Given the description of an element on the screen output the (x, y) to click on. 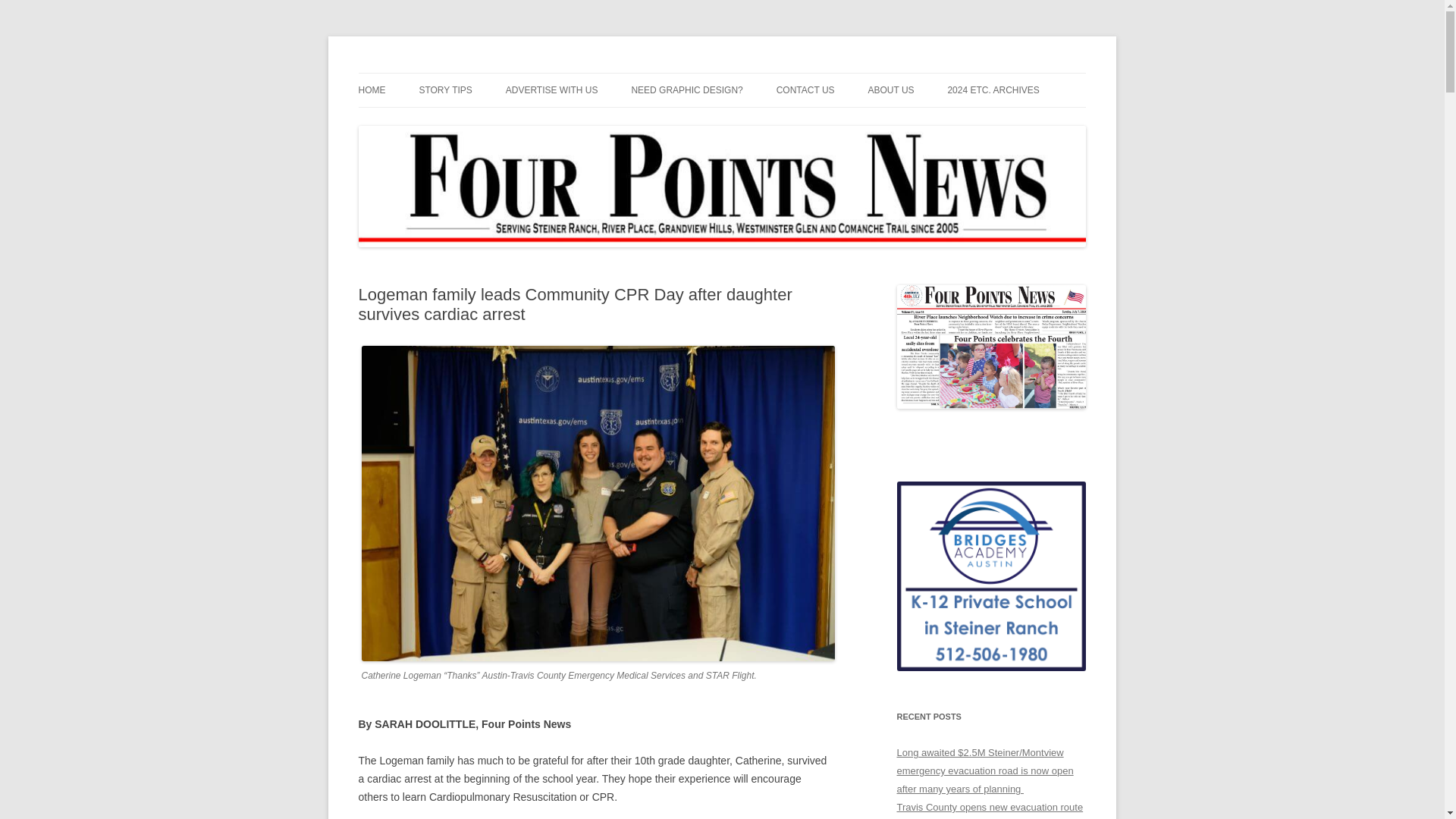
2024 ETC. ARCHIVES (993, 90)
CONTACT US (805, 90)
NEED GRAPHIC DESIGN? (686, 90)
ADVERTISE WITH US (551, 90)
ABOUT US (890, 90)
STORY TIPS (445, 90)
